Given the description of an element on the screen output the (x, y) to click on. 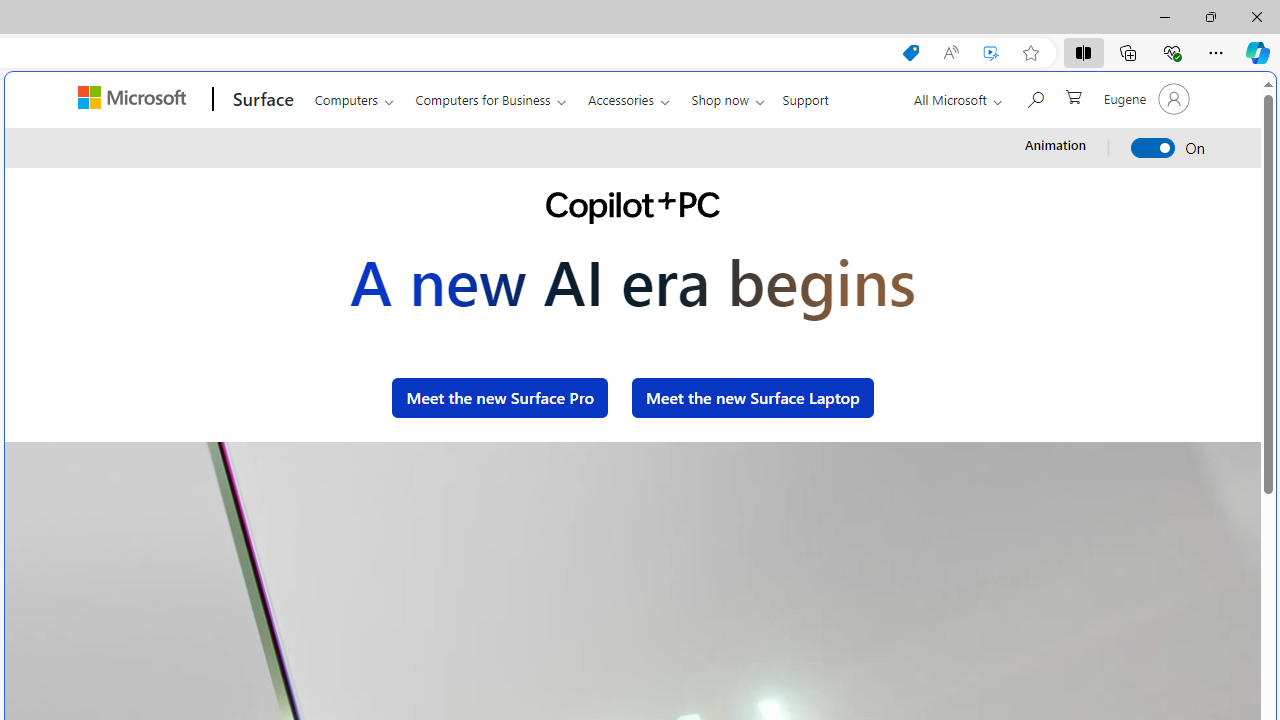
Copilot+ PC. (632, 207)
Microsoft (135, 99)
Support (805, 96)
Search Microsoft.com (1034, 97)
